Given the description of an element on the screen output the (x, y) to click on. 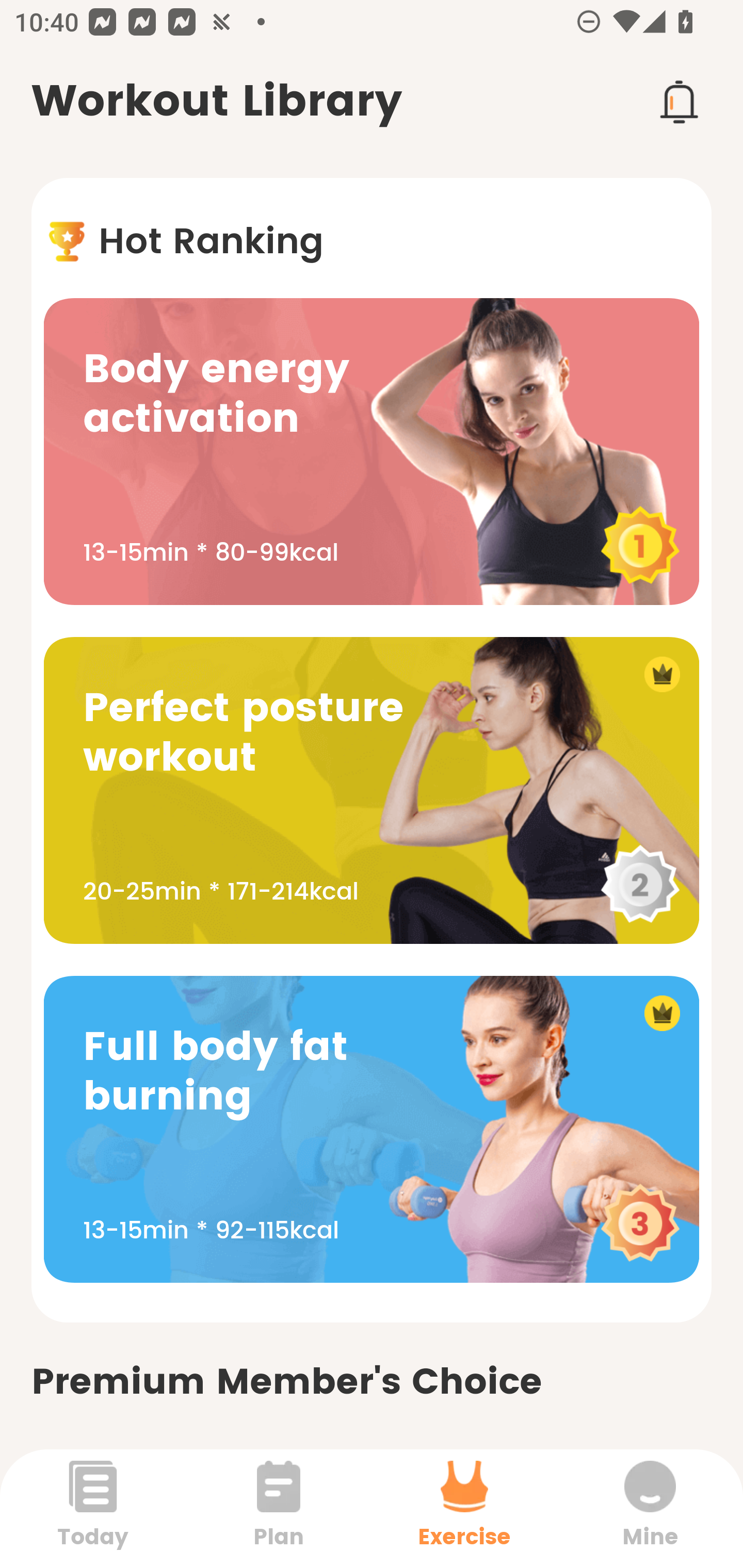
Body energy activation 13-15min * 80-99kcal (371, 451)
Perfect posture workout 20-25min * 171-214kcal (371, 789)
Full body fat burning 13-15min * 92-115kcal (371, 1128)
Today (92, 1508)
Plan (278, 1508)
Mine (650, 1508)
